Given the description of an element on the screen output the (x, y) to click on. 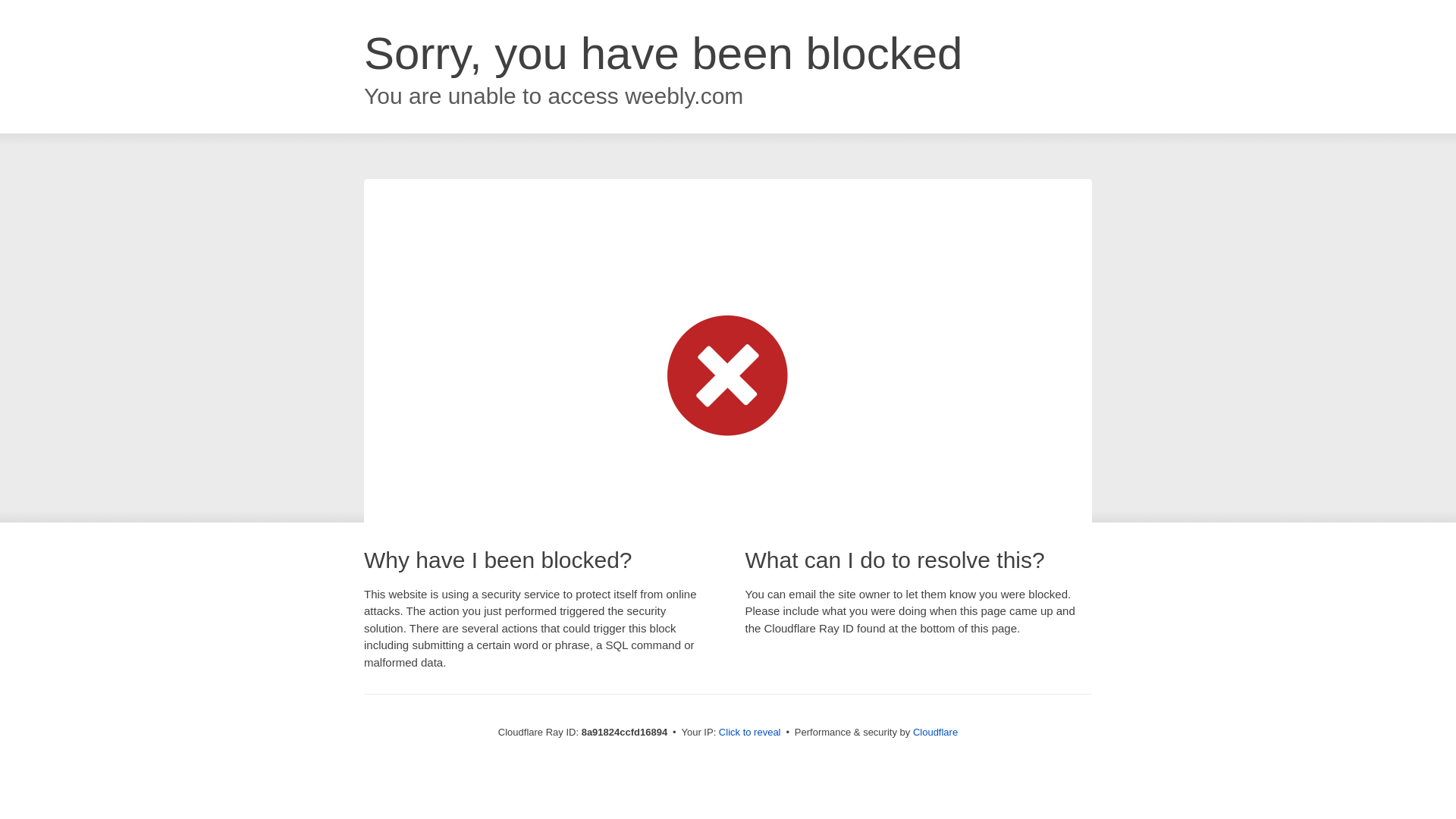
Cloudflare (935, 731)
Click to reveal (749, 732)
